Given the description of an element on the screen output the (x, y) to click on. 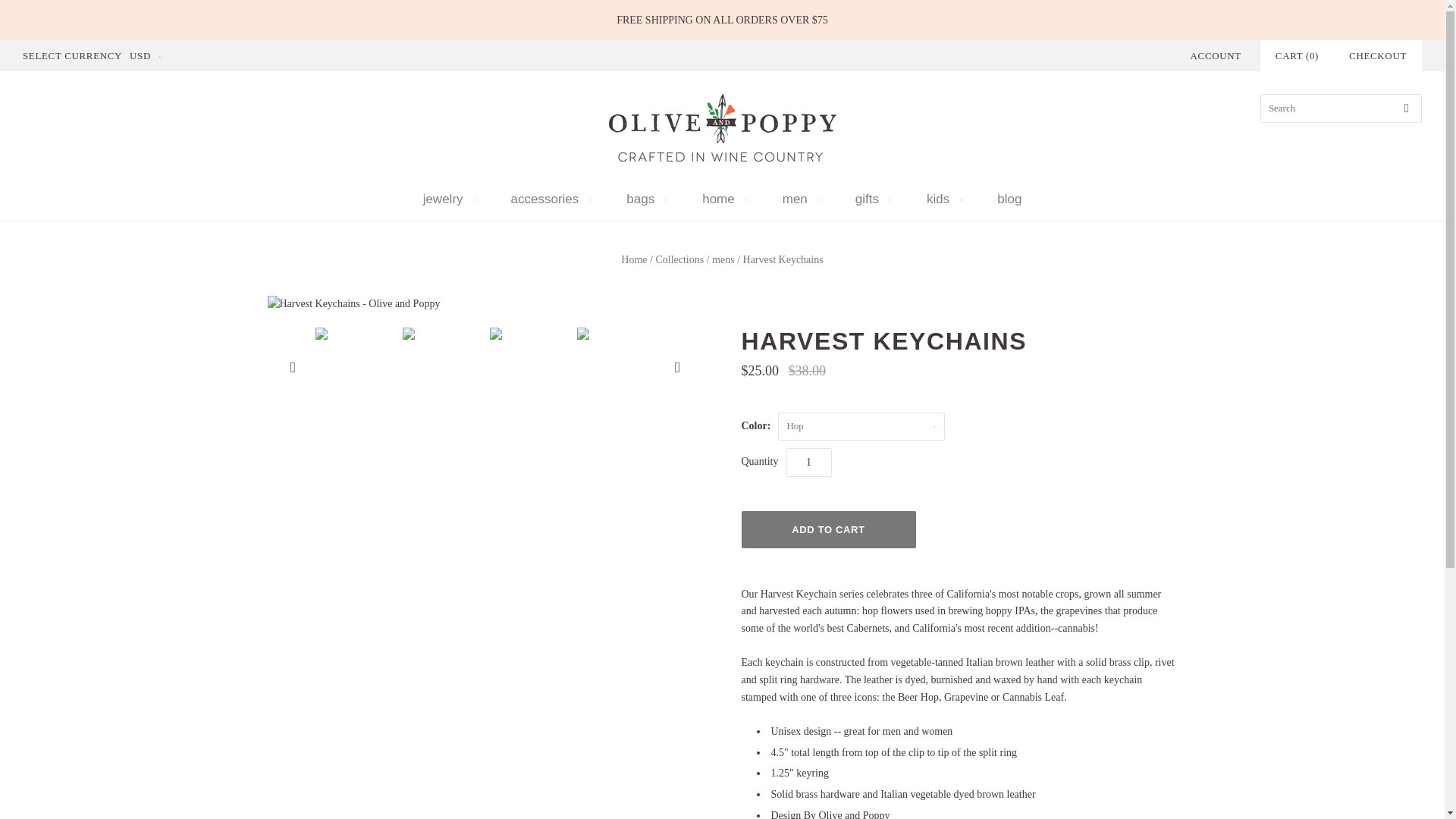
CHECKOUT (1377, 55)
jewelry (447, 198)
bags (644, 198)
accessories (549, 198)
ACCOUNT (1216, 55)
Add to cart (828, 529)
home (722, 198)
1 (808, 461)
